Given the description of an element on the screen output the (x, y) to click on. 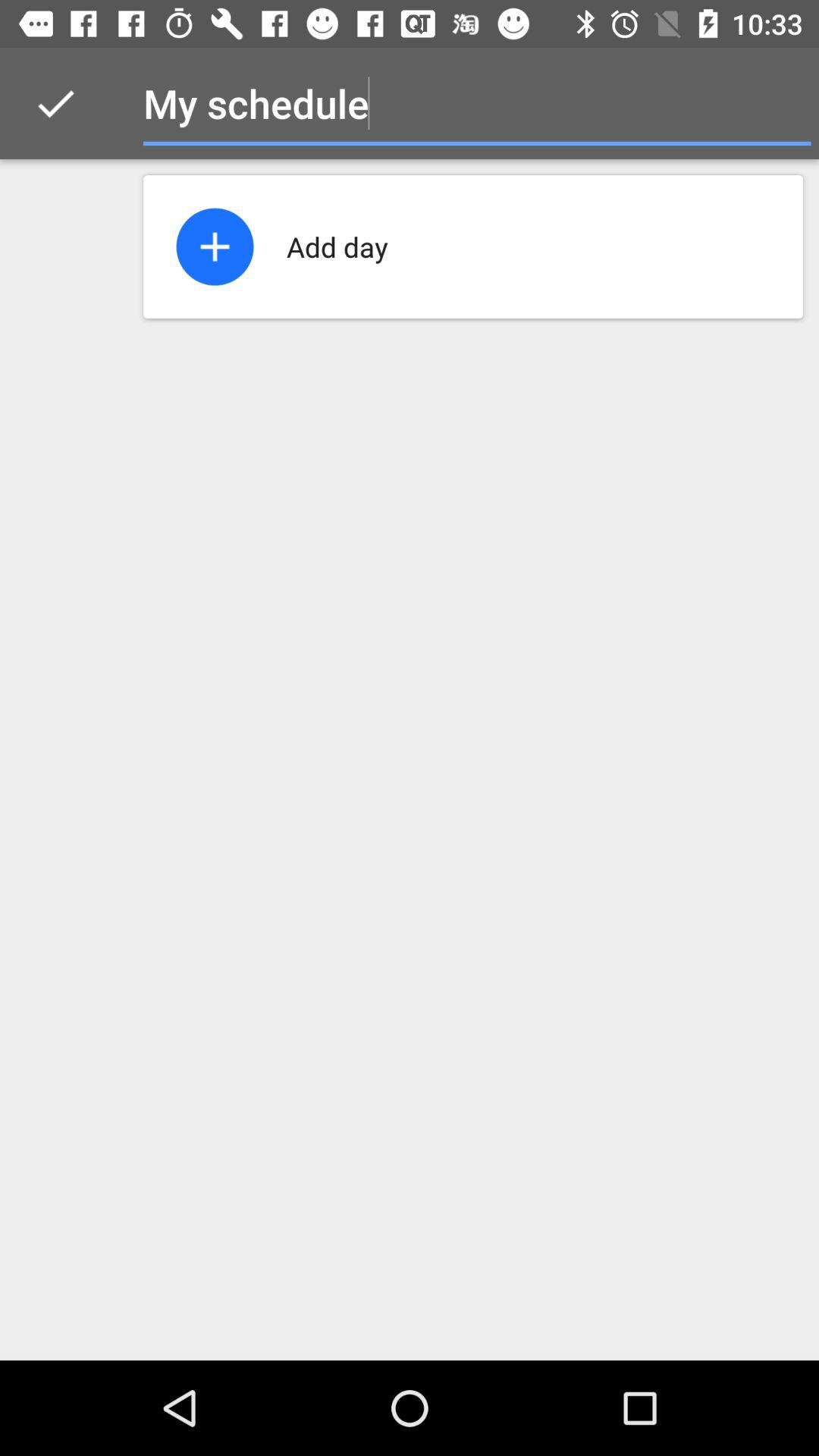
tap icon next to my schedule item (779, 103)
